Given the description of an element on the screen output the (x, y) to click on. 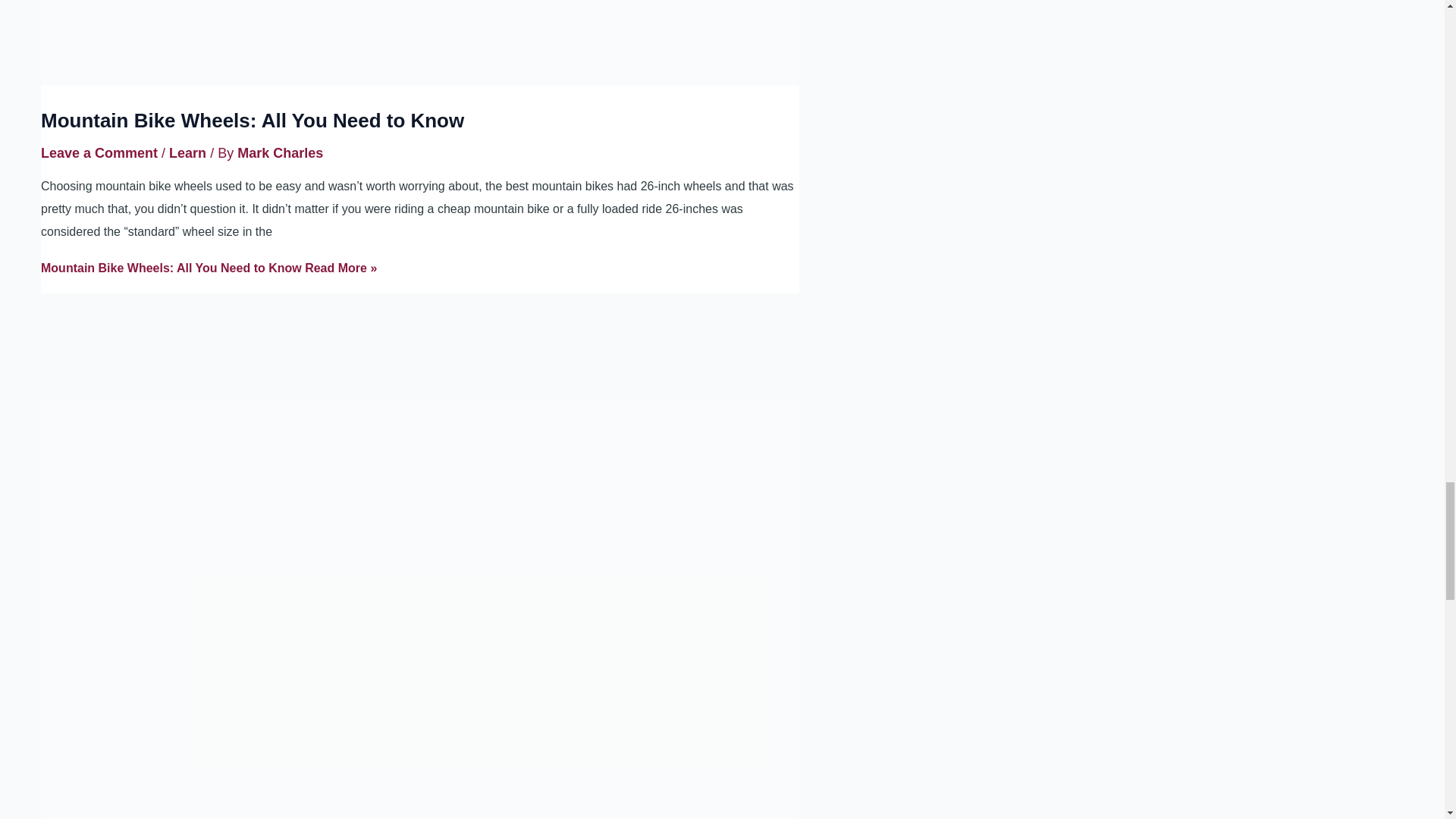
Mountain Bike Wheels: All You Need to Know (252, 119)
View all posts by Mark Charles (280, 152)
Mark Charles (280, 152)
Learn (187, 152)
Leave a Comment (98, 152)
